Given the description of an element on the screen output the (x, y) to click on. 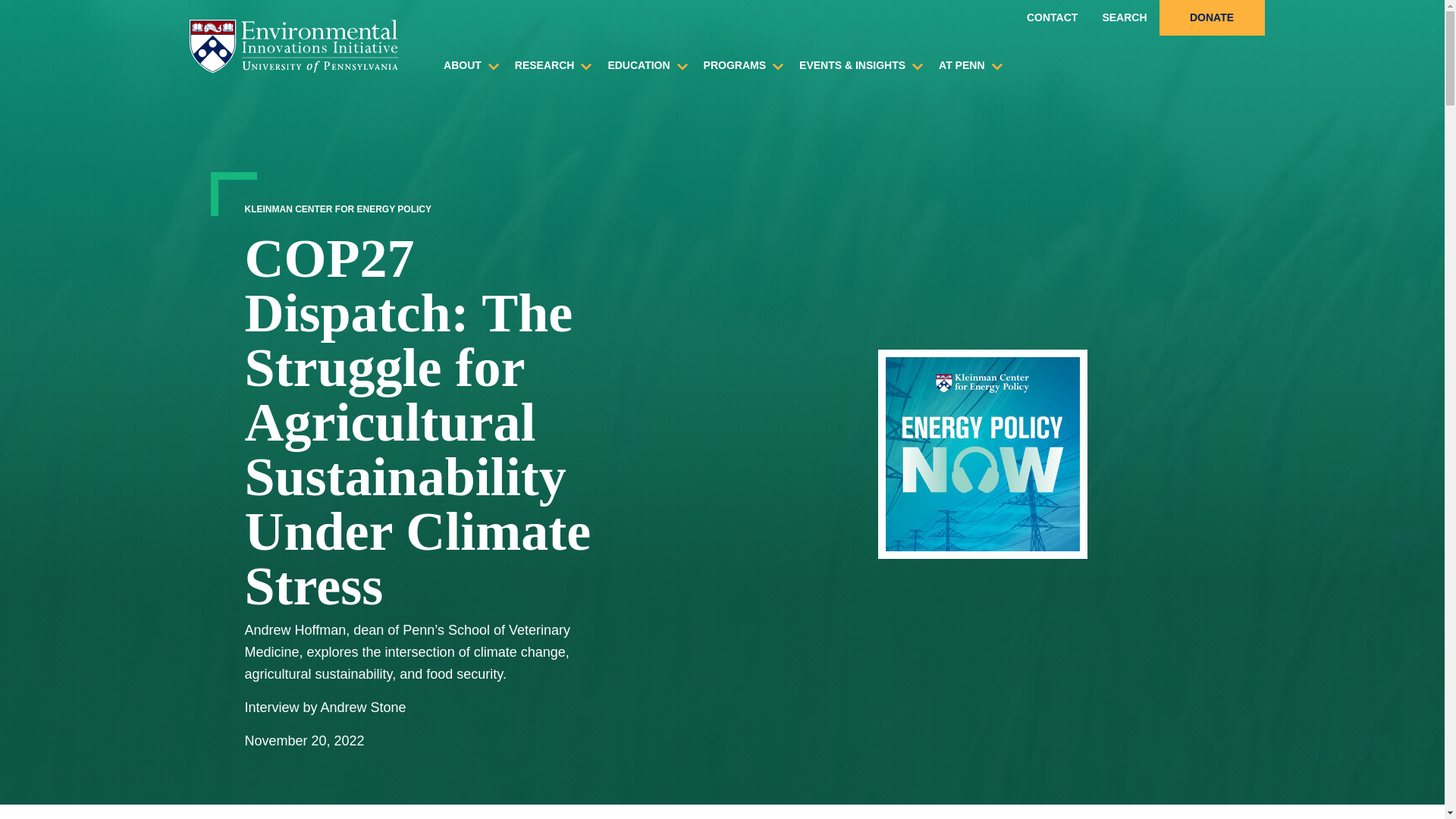
Donate to EII (1210, 18)
ABOUT (462, 64)
Home (293, 45)
SEARCH (1123, 18)
DONATE (1210, 18)
AT PENN (961, 64)
EDUCATION (638, 64)
PROGRAMS (734, 64)
RESEARCH (544, 64)
CONTACT (1051, 18)
